Given the description of an element on the screen output the (x, y) to click on. 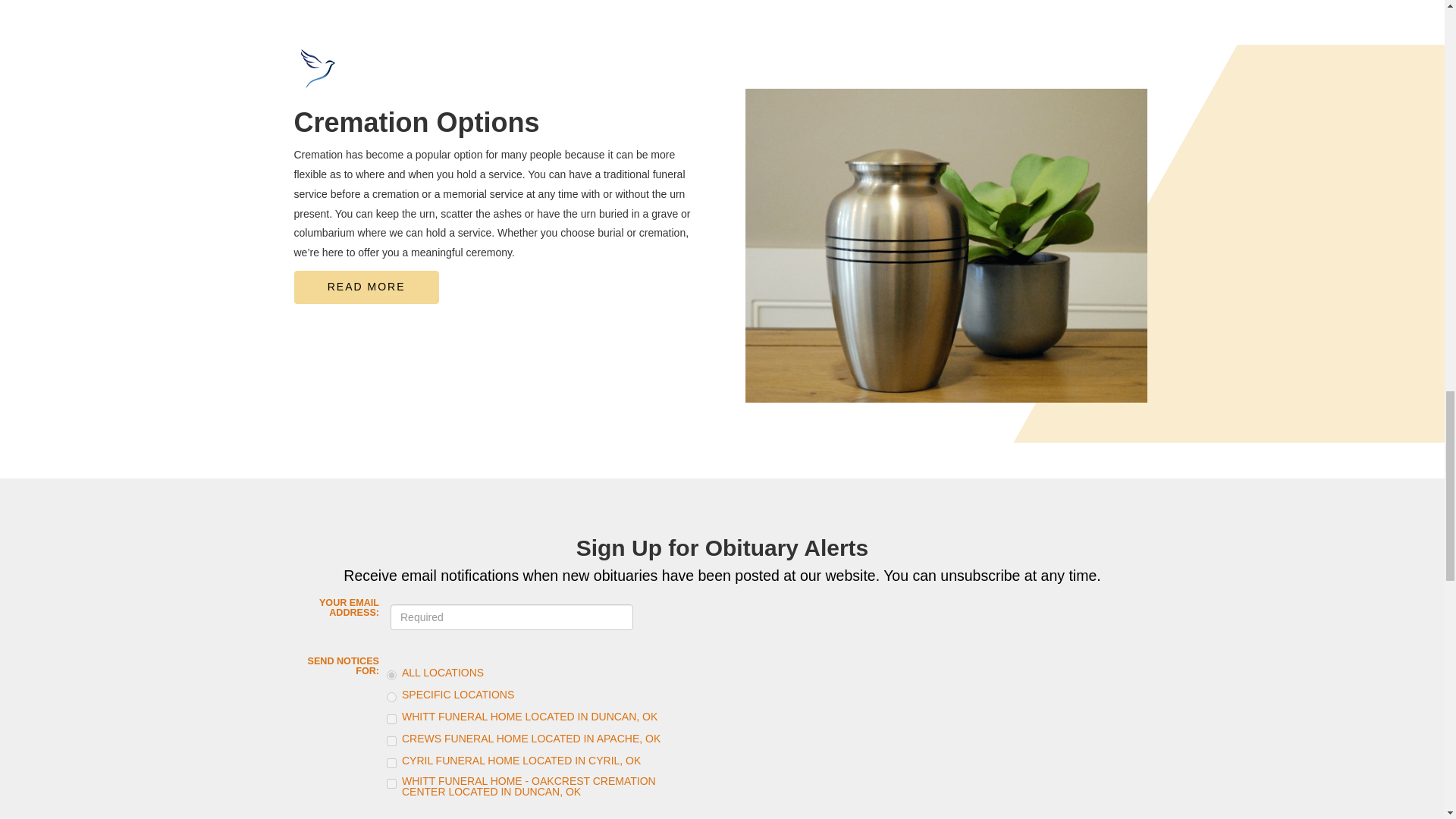
768 (391, 783)
all (391, 675)
specific (391, 696)
746 (391, 718)
748 (391, 763)
747 (391, 741)
